Given the description of an element on the screen output the (x, y) to click on. 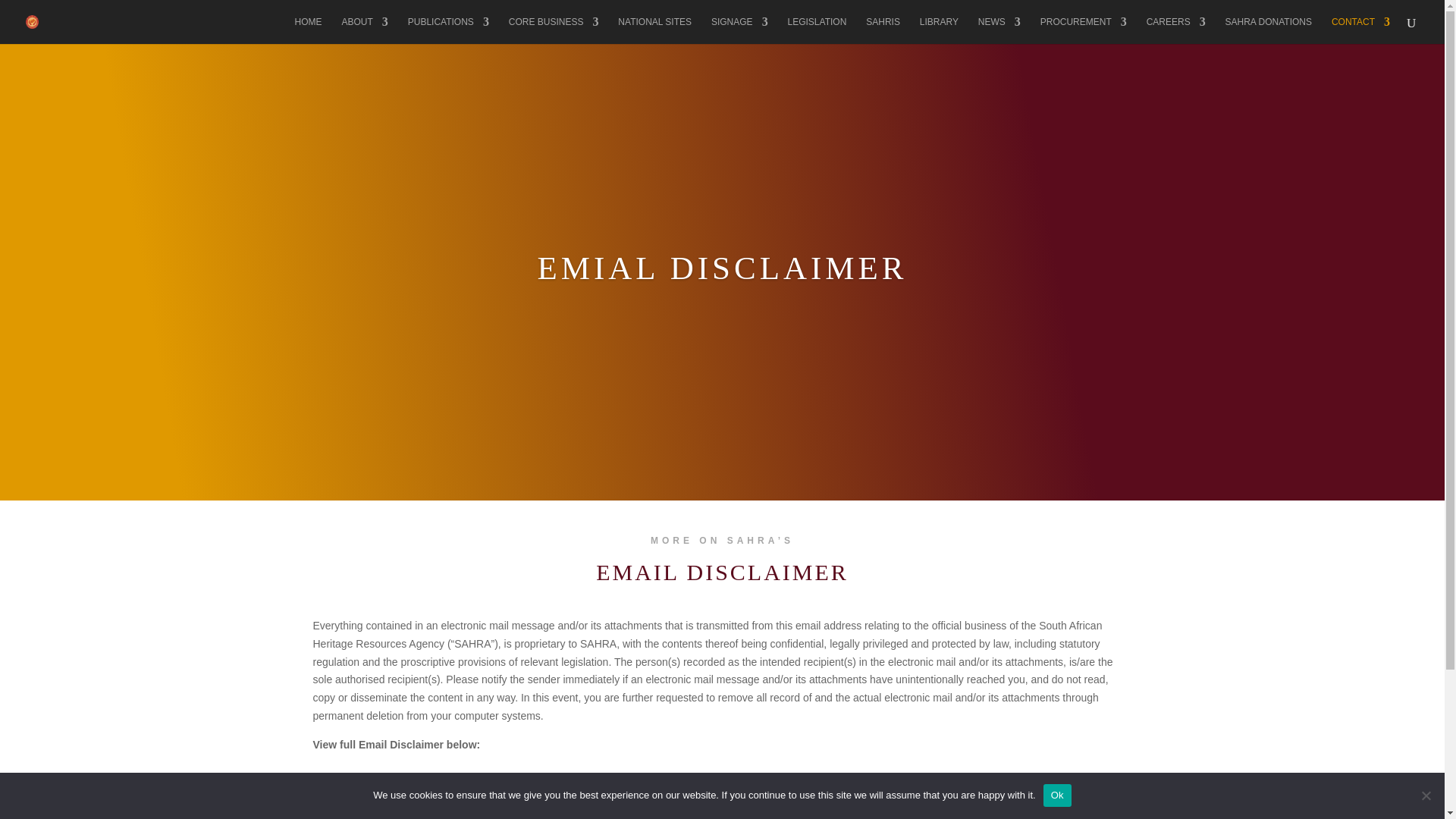
LIBRARY (939, 30)
PUBLICATIONS (448, 30)
HOME (308, 30)
NEWS (999, 30)
PROCUREMENT (1083, 30)
LEGISLATION (817, 30)
SIGNAGE (739, 30)
NATIONAL SITES (654, 30)
No (1425, 795)
CORE BUSINESS (553, 30)
ABOUT (363, 30)
SAHRIS (882, 30)
